Given the description of an element on the screen output the (x, y) to click on. 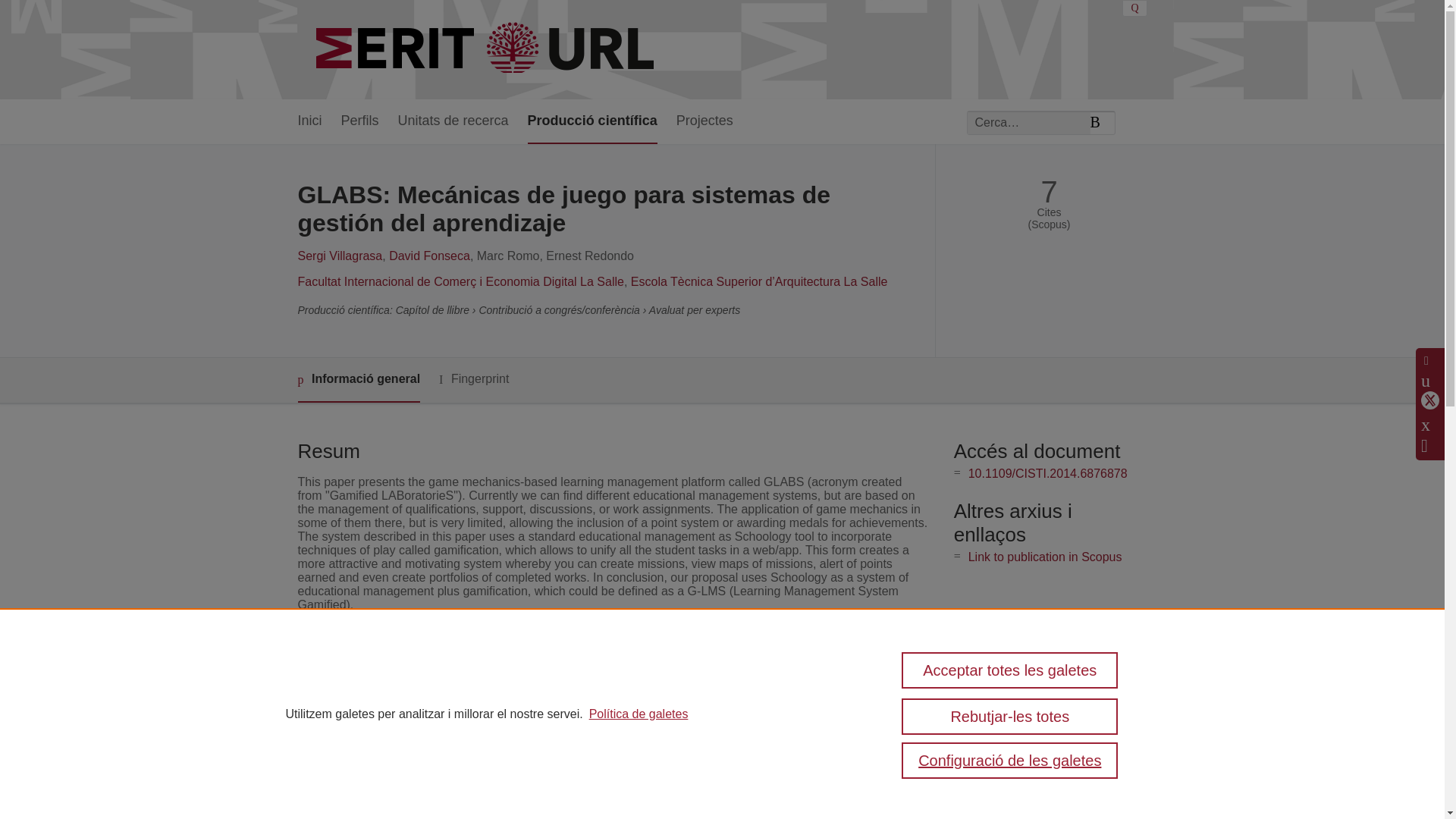
Projectes (705, 121)
Fingerprint (473, 379)
Sergi Villagrasa (339, 255)
David Fonseca (429, 255)
Link to publication in Scopus (1045, 556)
Unitats de recerca (452, 121)
Universitat Ramon Llull Inici (487, 49)
IEEE Computer Society (573, 695)
